Given the description of an element on the screen output the (x, y) to click on. 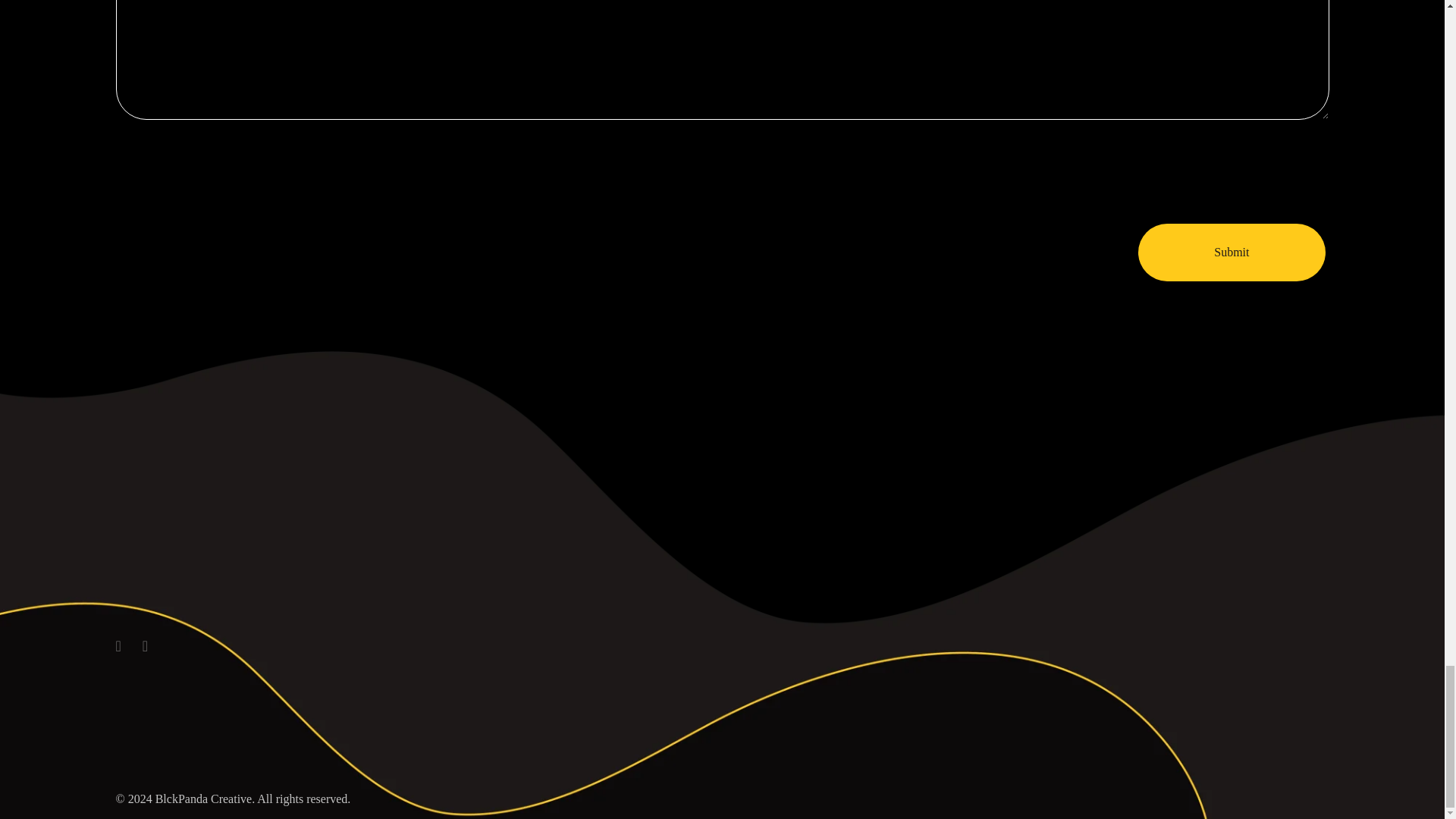
Submit (1231, 252)
Submit (1231, 252)
